Given the description of an element on the screen output the (x, y) to click on. 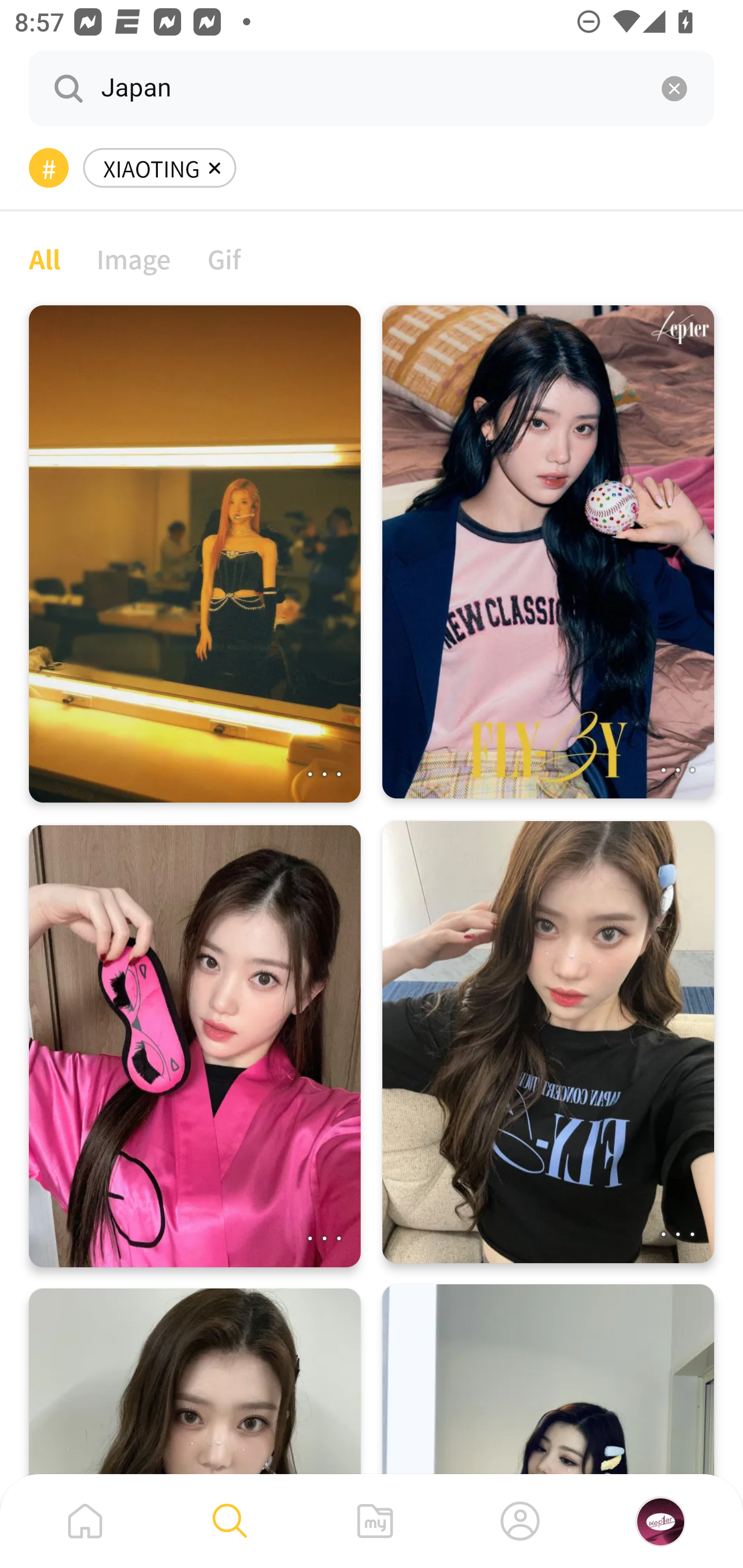
All (44, 257)
Image (133, 257)
Gif (223, 257)
